Given the description of an element on the screen output the (x, y) to click on. 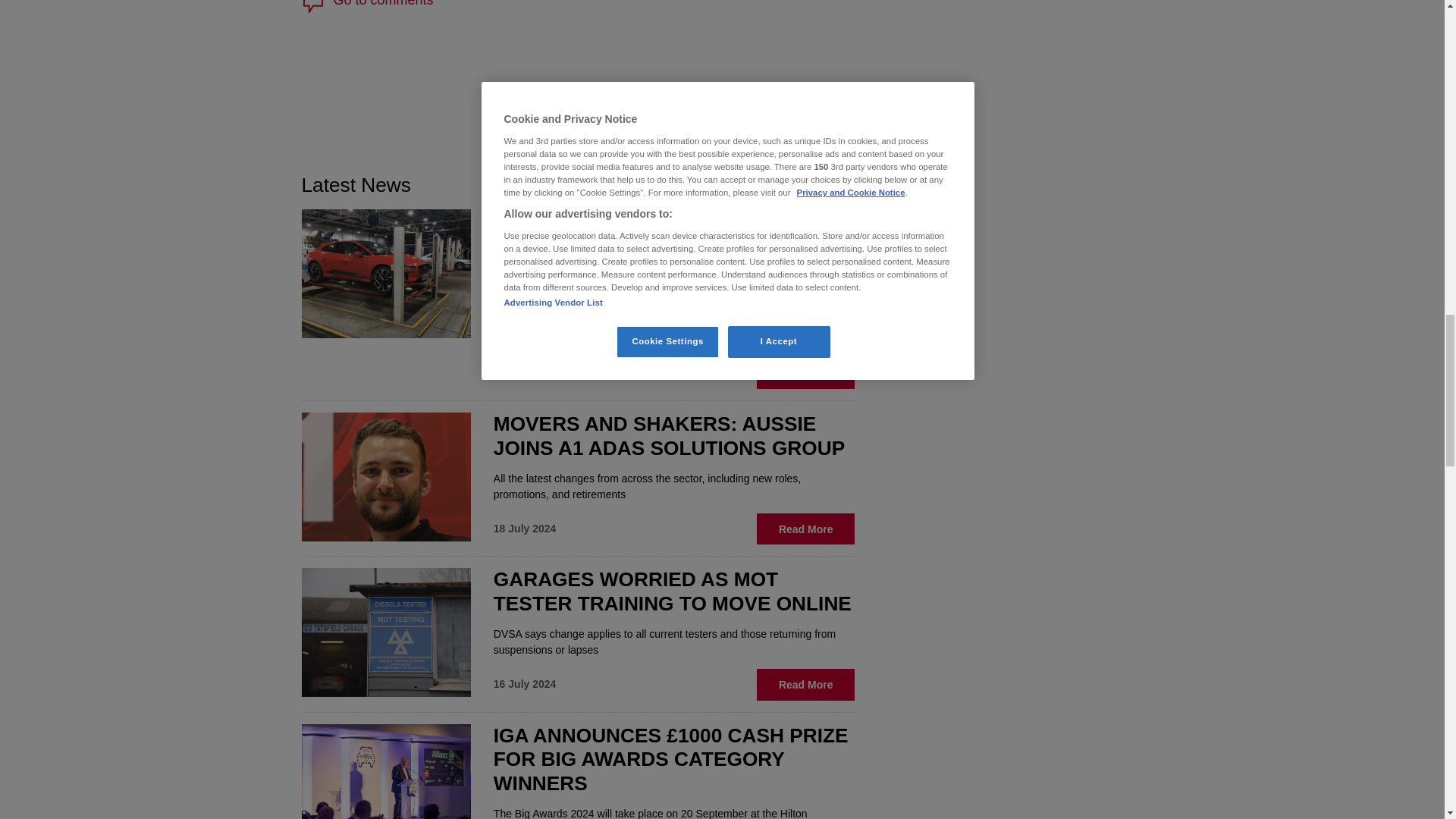
GARAGES WORRIED AS MOT TESTER TRAINING TO MOVE ONLINE (672, 591)
Read More (806, 684)
News (785, 186)
MOVERS AND SHAKERS: AUSSIE JOINS A1 ADAS SOLUTIONS GROUP (668, 435)
View all News articles (578, 4)
linke with comments (785, 186)
Read More (578, 4)
Read More (806, 373)
